Given the description of an element on the screen output the (x, y) to click on. 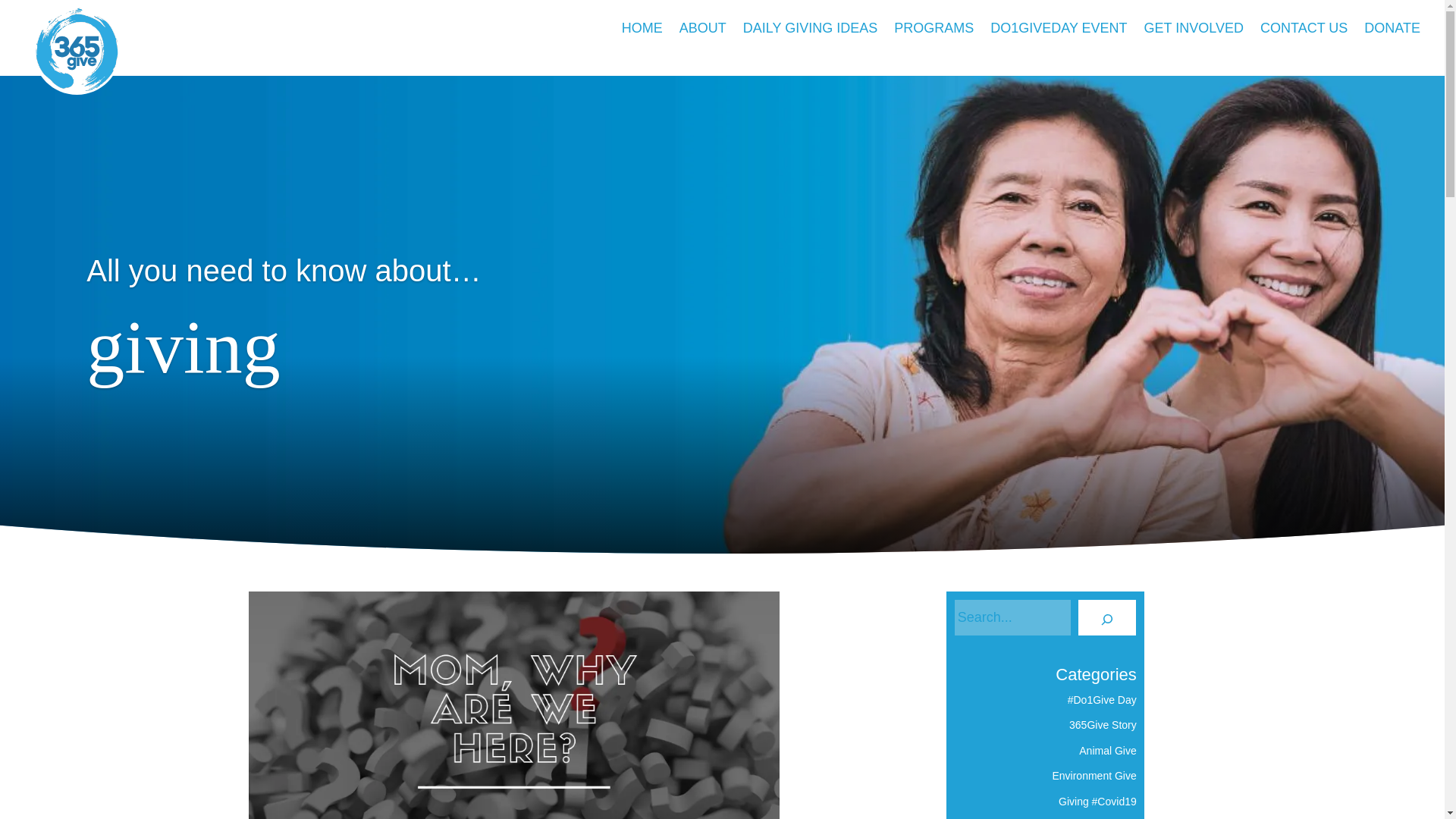
DAILY GIVING IDEAS (809, 35)
HOME (641, 35)
ABOUT (702, 35)
